Given the description of an element on the screen output the (x, y) to click on. 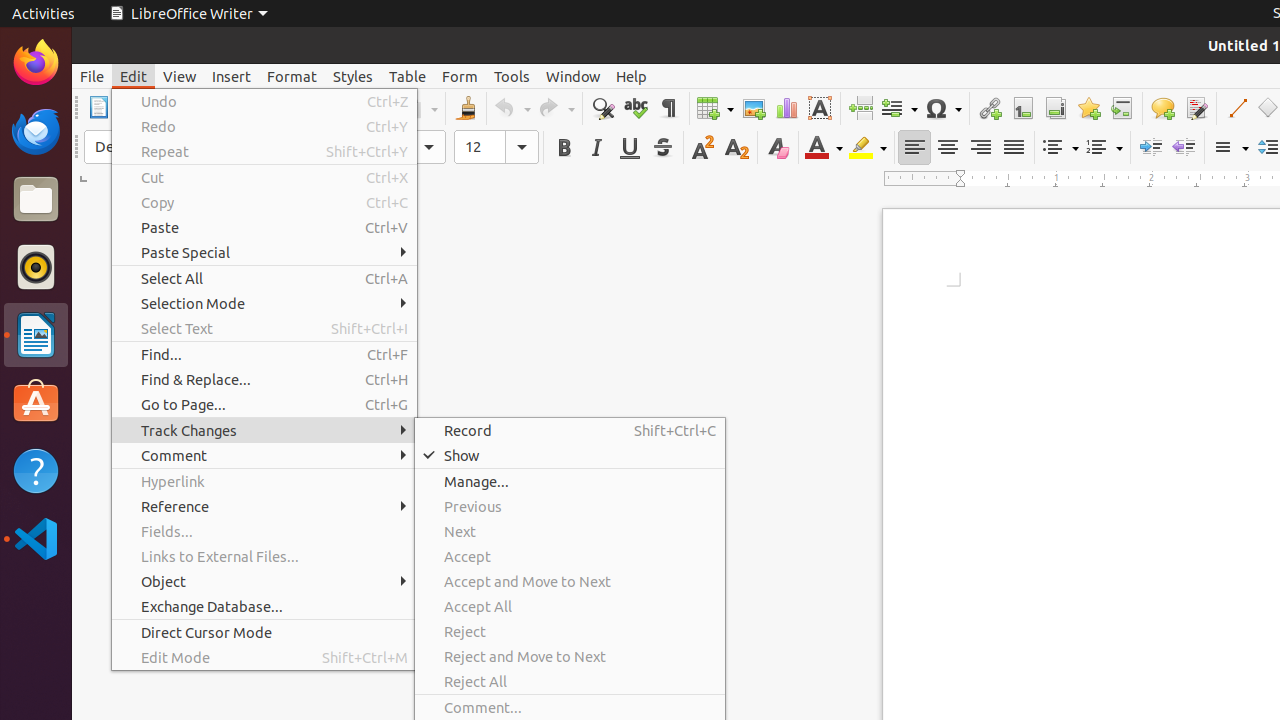
Help Element type: push-button (36, 470)
Spelling Element type: push-button (635, 108)
Subscript Element type: toggle-button (736, 147)
Go to Page... Element type: menu-item (264, 404)
Select All Element type: menu-item (264, 278)
